Given the description of an element on the screen output the (x, y) to click on. 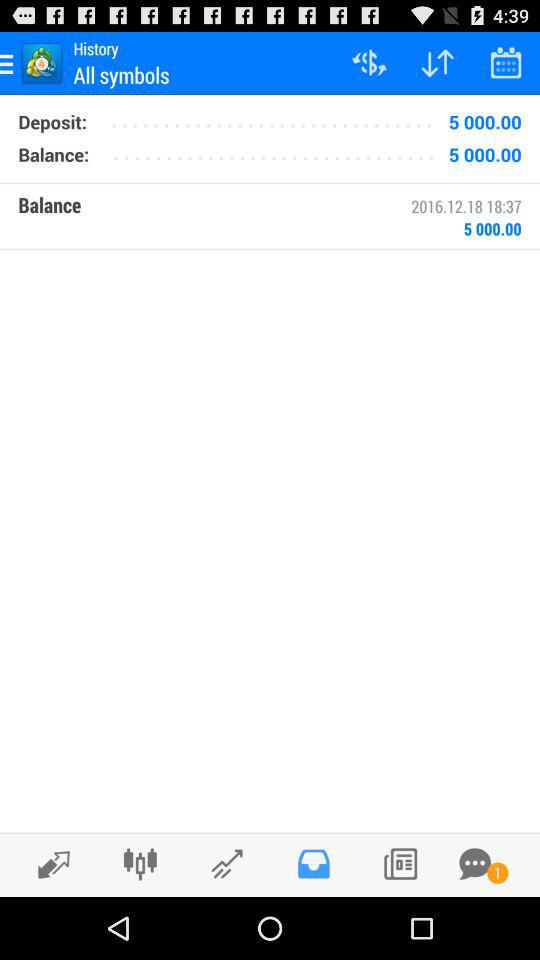
save (313, 863)
